Given the description of an element on the screen output the (x, y) to click on. 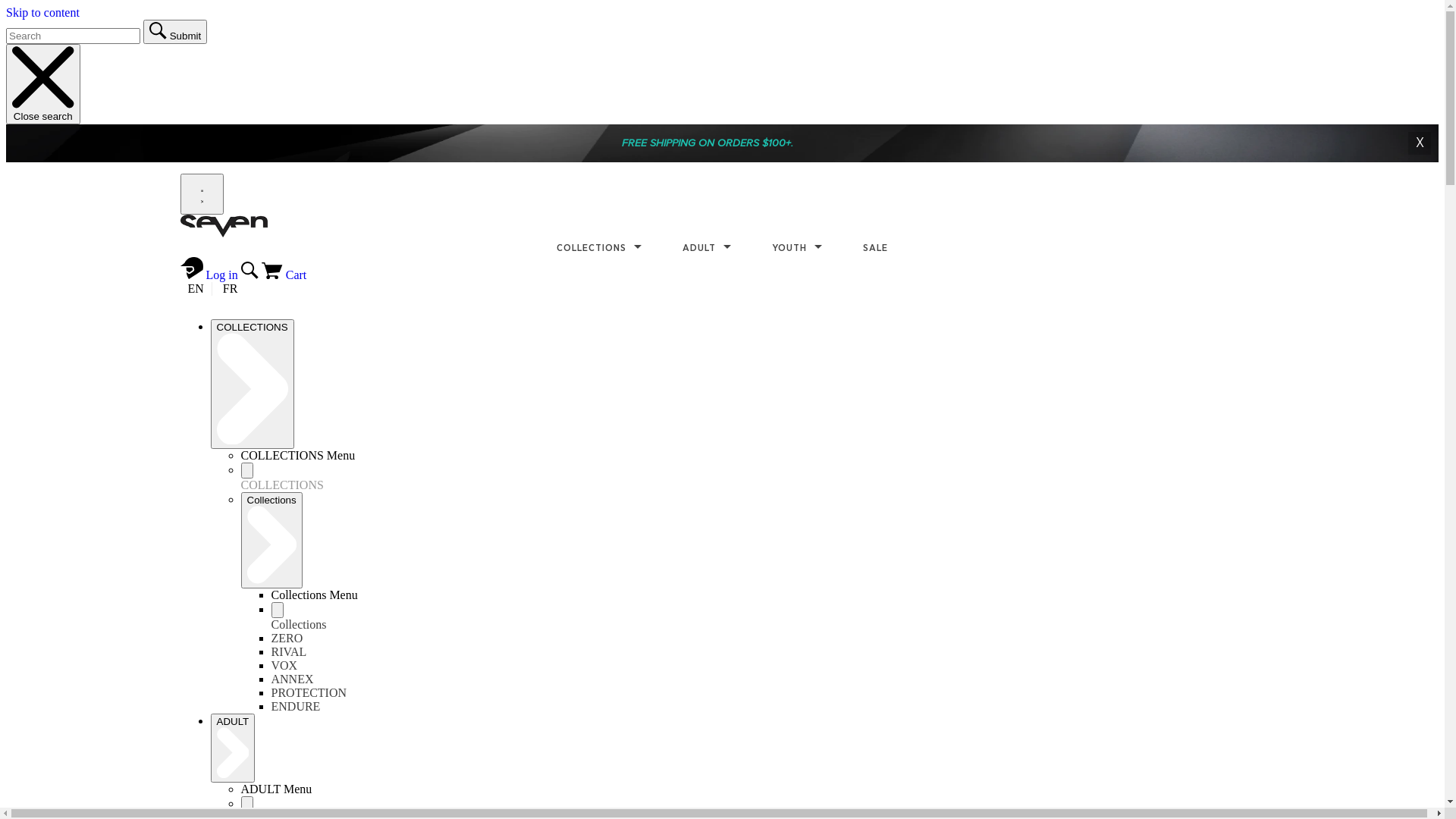
COLLECTIONS Element type: text (598, 248)
VOX Element type: text (284, 664)
ADULT Element type: text (706, 248)
Collections Element type: text (271, 539)
RIVAL Element type: text (289, 651)
ENDURE Element type: text (295, 705)
YOUTH Element type: text (796, 248)
EN Element type: text (195, 288)
FREE SHIPPING ON ORDERS $100+. Element type: text (707, 143)
ZERO Element type: text (287, 637)
SALE Element type: text (875, 248)
ANNEX Element type: text (292, 678)
Fill 1 Created with Sketch. Log in Element type: text (210, 274)
FR Element type: text (230, 288)
Combined Shape Created with Sketch. Submit Element type: text (175, 31)
Skip to content Element type: text (42, 12)
ADULT Element type: text (232, 747)
Fill 19 Created with Sketch. Cart Element type: text (284, 274)
X Element type: text (1419, 142)
Close search Element type: text (43, 83)
Combined Shape Created with Sketch. Element type: text (251, 274)
Collections Element type: text (298, 624)
COLLECTIONS Element type: text (252, 384)
PROTECTION Element type: text (309, 692)
